Given the description of an element on the screen output the (x, y) to click on. 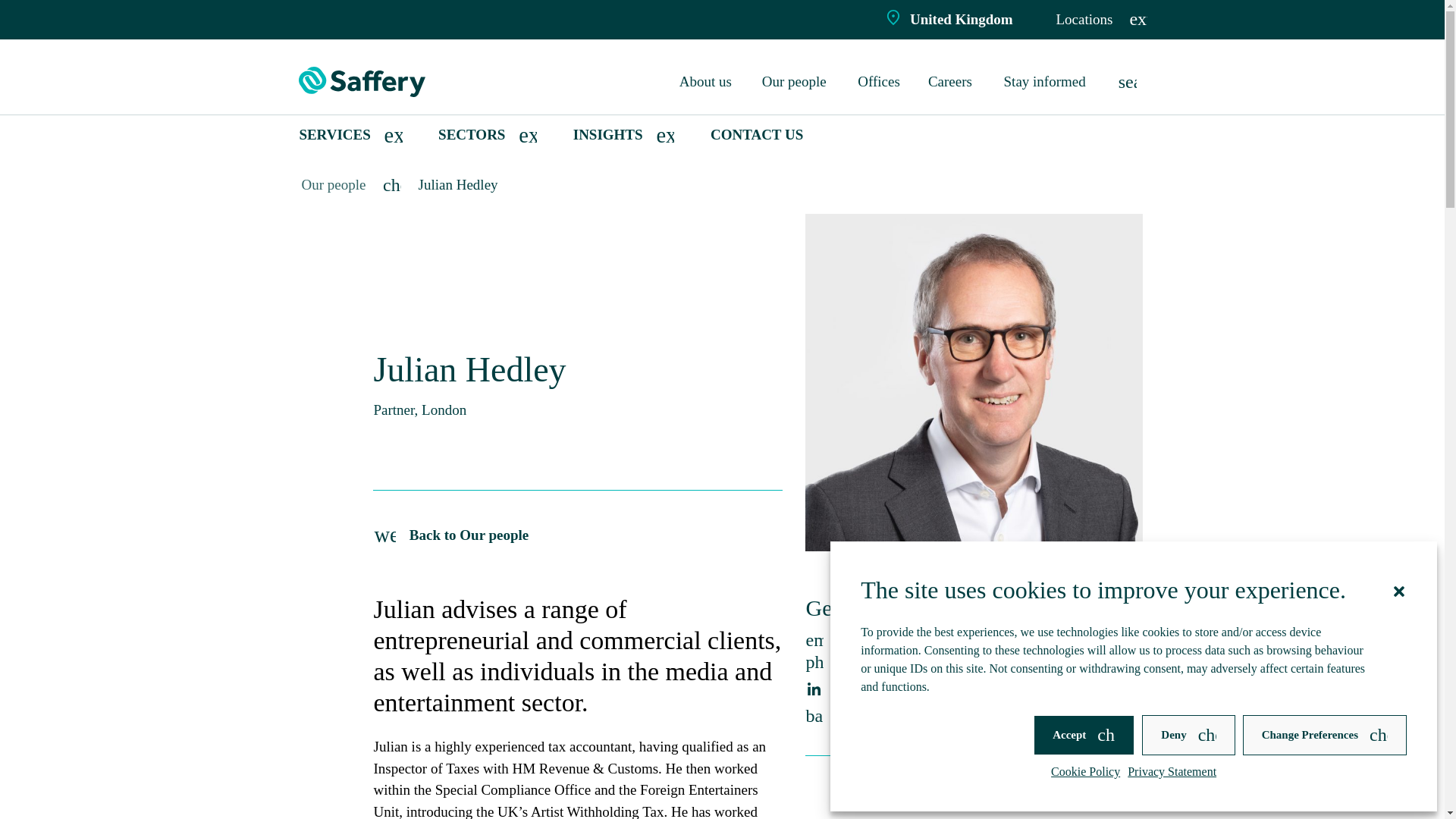
Deny (1187, 734)
Cookie Policy (1085, 771)
Our people (796, 82)
Careers (951, 82)
Julian Hedley (458, 184)
About us (706, 82)
Accept (1083, 734)
Privacy Statement (1170, 771)
Our people (333, 184)
Offices (879, 82)
CONTACT US (756, 134)
Stay informed (1047, 82)
Change Preferences (1324, 734)
